Given the description of an element on the screen output the (x, y) to click on. 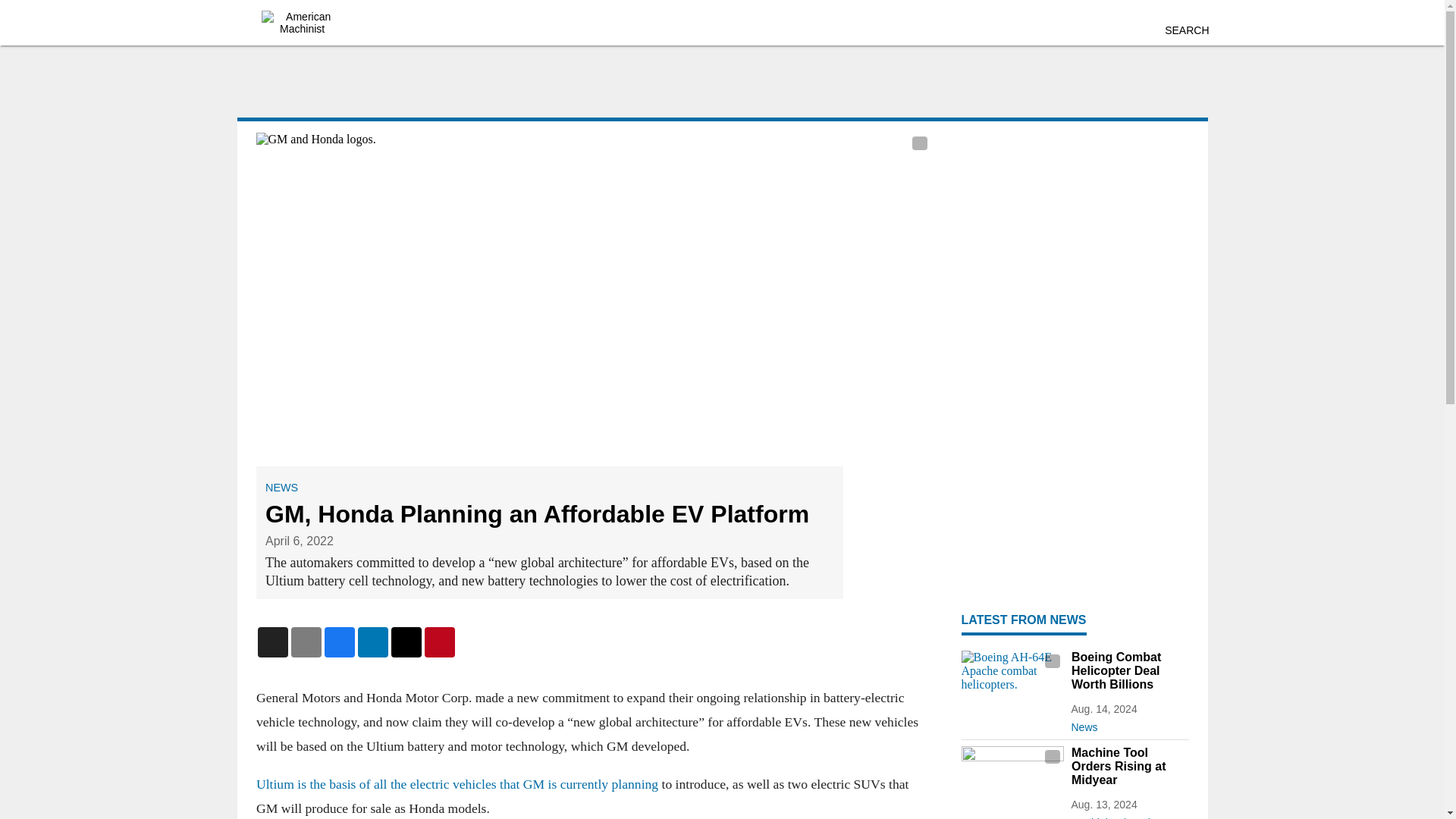
Boeing Combat Helicopter Deal Worth Billions (1129, 670)
SEARCH (1186, 30)
NEWS (281, 487)
Boeing AH-64E Apache combat helicopters. (1012, 678)
Machine Tool Orders Rising at Midyear (1129, 766)
News (1129, 723)
